Given the description of an element on the screen output the (x, y) to click on. 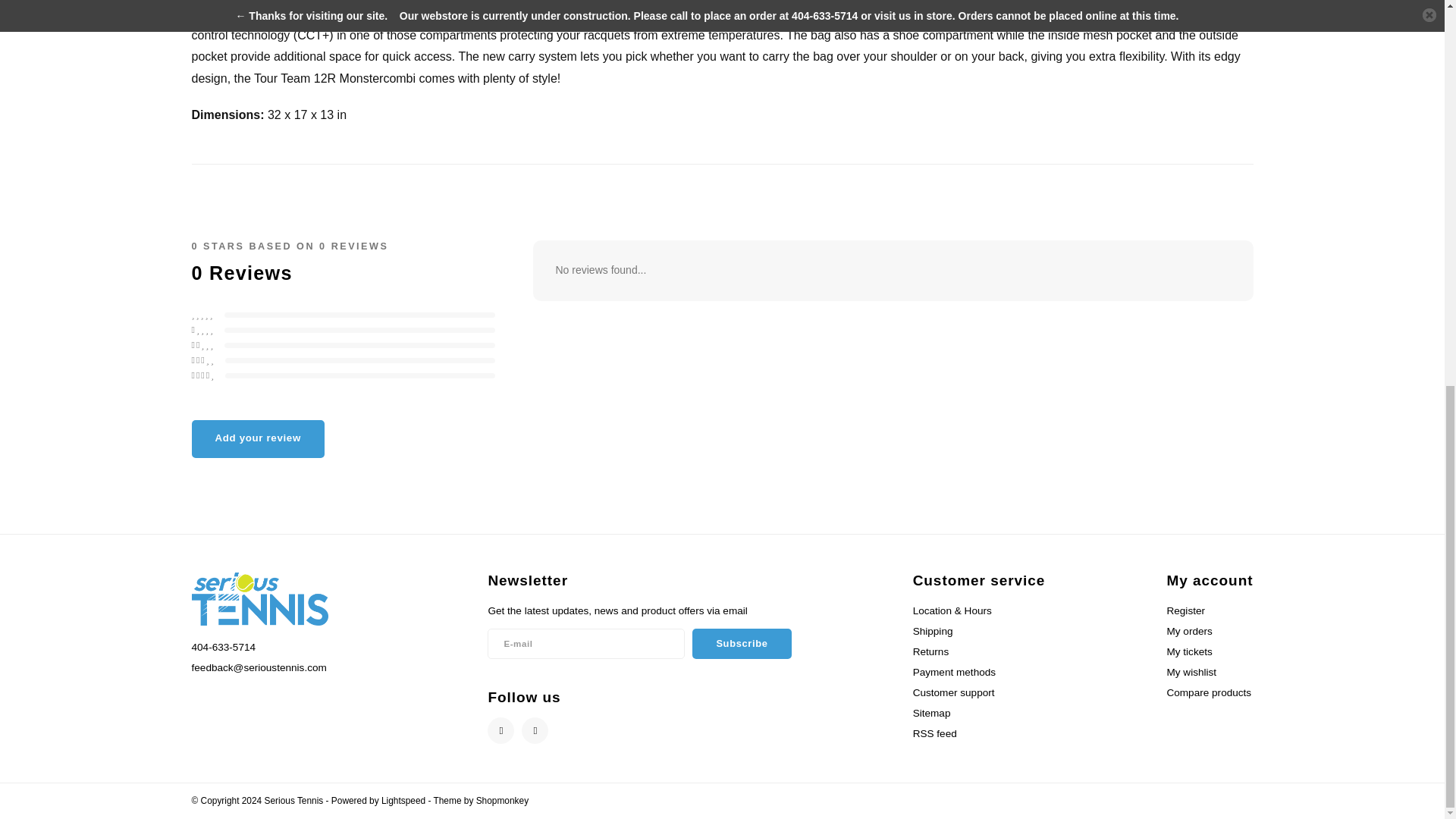
My orders (1188, 631)
Subscribe (741, 643)
Instagram Serious Tennis (534, 730)
Lightspeed (403, 800)
Register (1185, 610)
RSS feed (934, 733)
My tickets (1188, 651)
My wishlist (1190, 672)
